Given the description of an element on the screen output the (x, y) to click on. 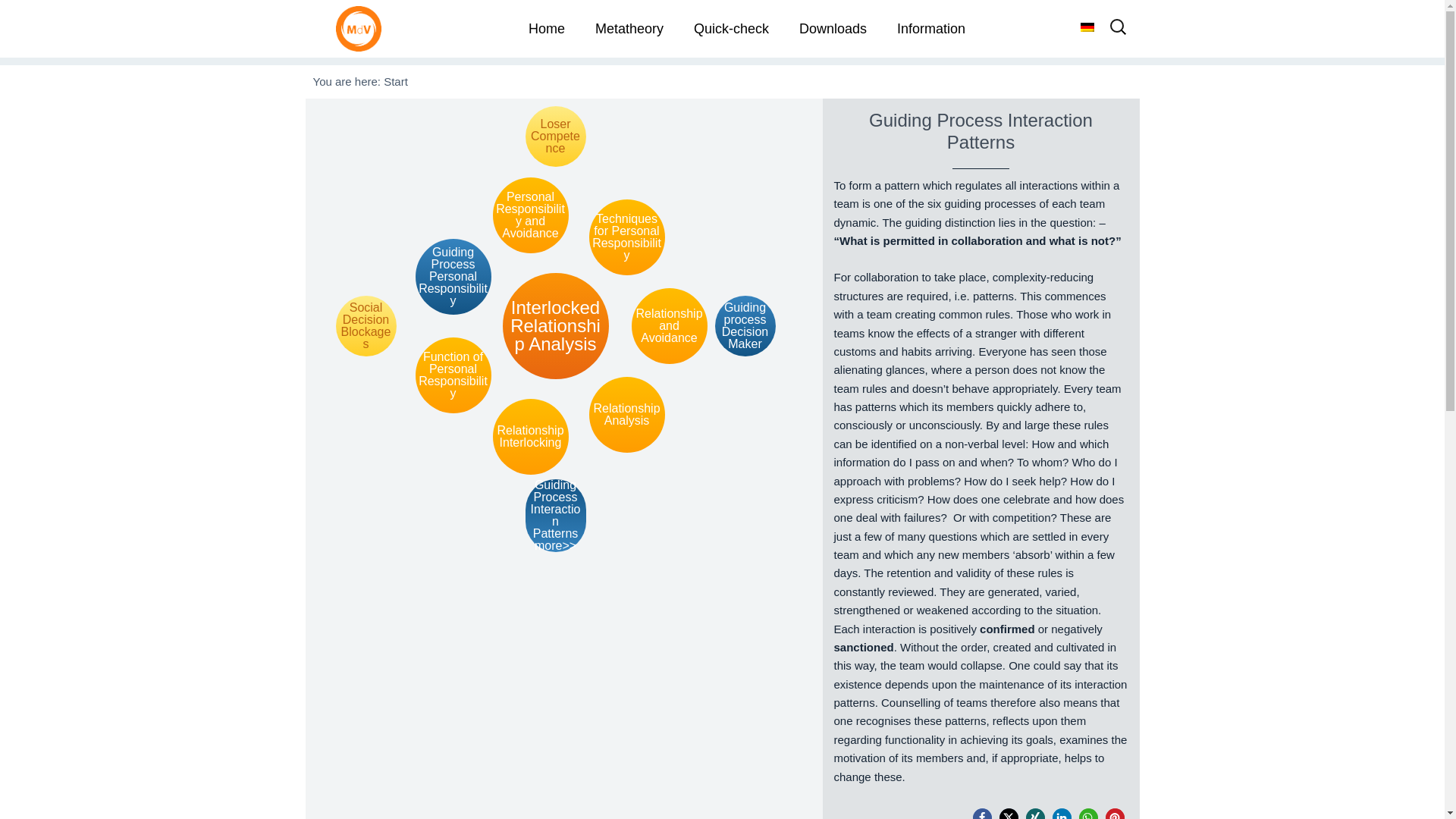
Guiding process Decision Maker (744, 325)
Function of Personal Responsibility (453, 375)
Search (42, 18)
Relationship Analysis (625, 414)
Search for: (1118, 31)
Relationship and Avoidance (668, 325)
Interlocked Relationship Analysis (555, 325)
Home (546, 28)
Share on Facebook (981, 813)
Relationship Interlocking (531, 436)
Downloads (833, 28)
Personal Responsibility and Avoidance (531, 215)
Quick-check (731, 28)
